Given the description of an element on the screen output the (x, y) to click on. 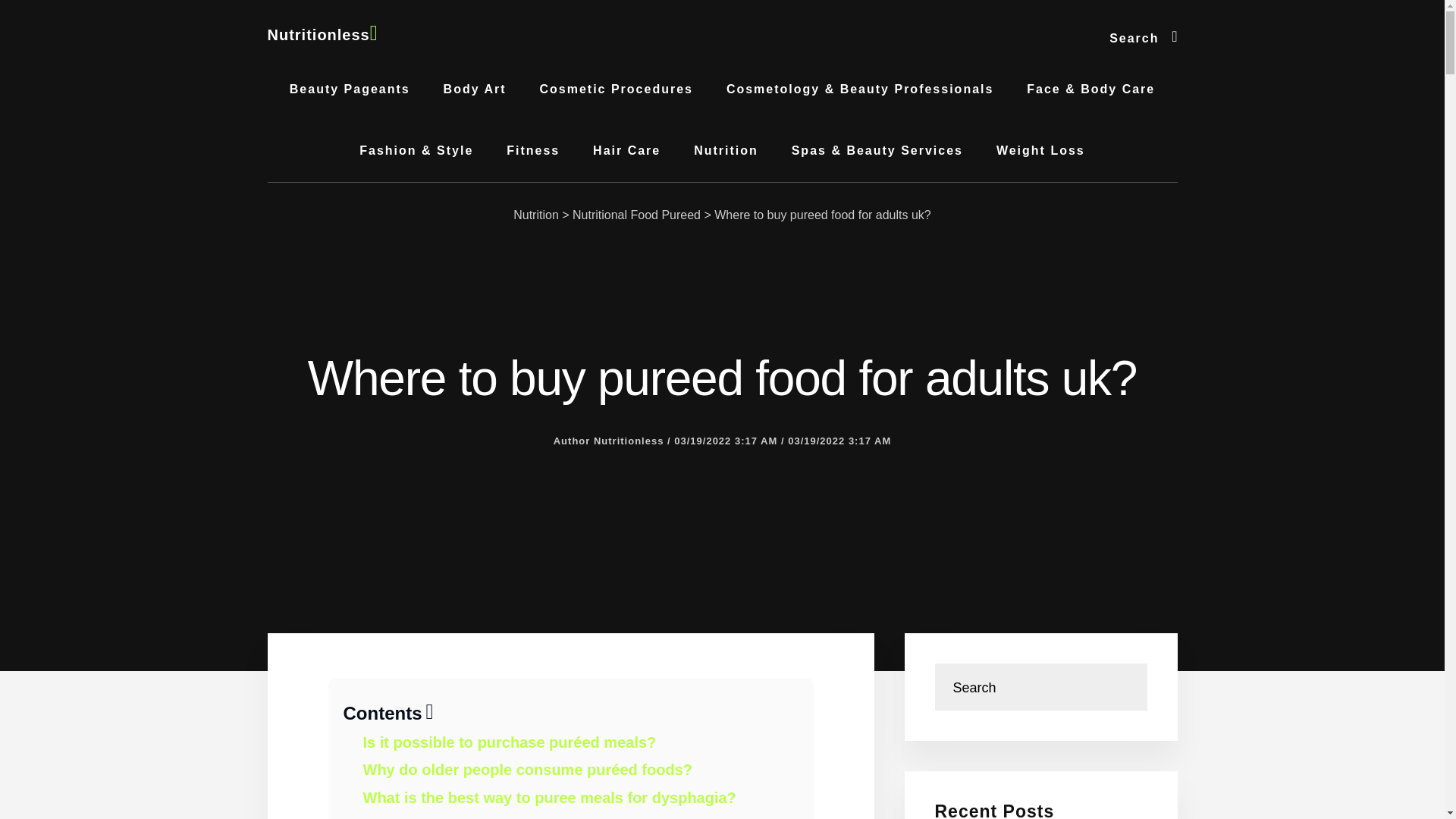
Weight Loss (1040, 150)
Nutritional Food Pureed (636, 214)
Nutritionless (321, 34)
Cosmetic Procedures (615, 89)
Hair Care (626, 150)
Fitness (533, 150)
Nutrition (725, 150)
Nutrition (536, 214)
Body Art (474, 89)
Beauty Pageants (350, 89)
